Given the description of an element on the screen output the (x, y) to click on. 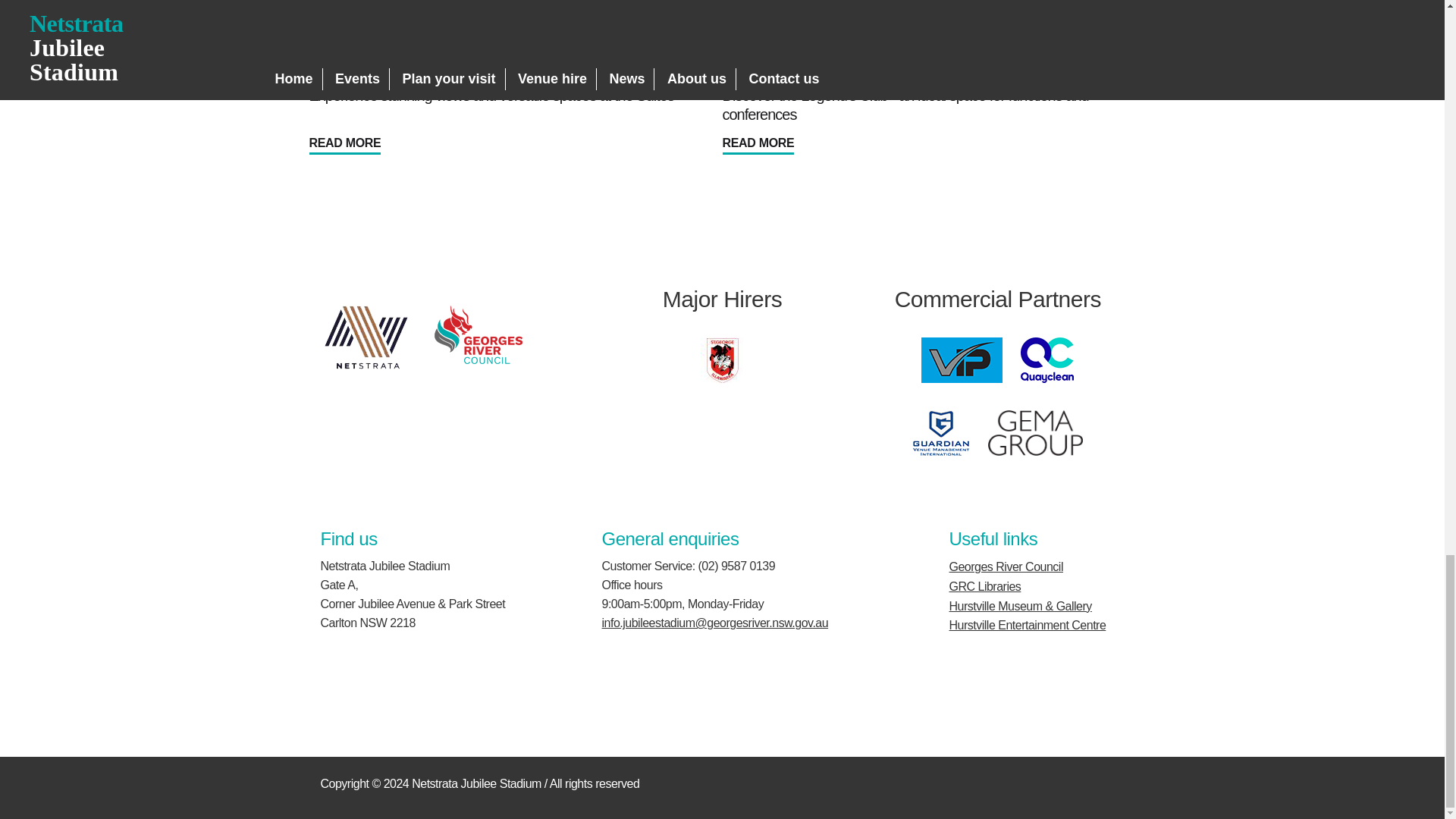
READ MORE (344, 142)
READ MORE (757, 142)
